Given the description of an element on the screen output the (x, y) to click on. 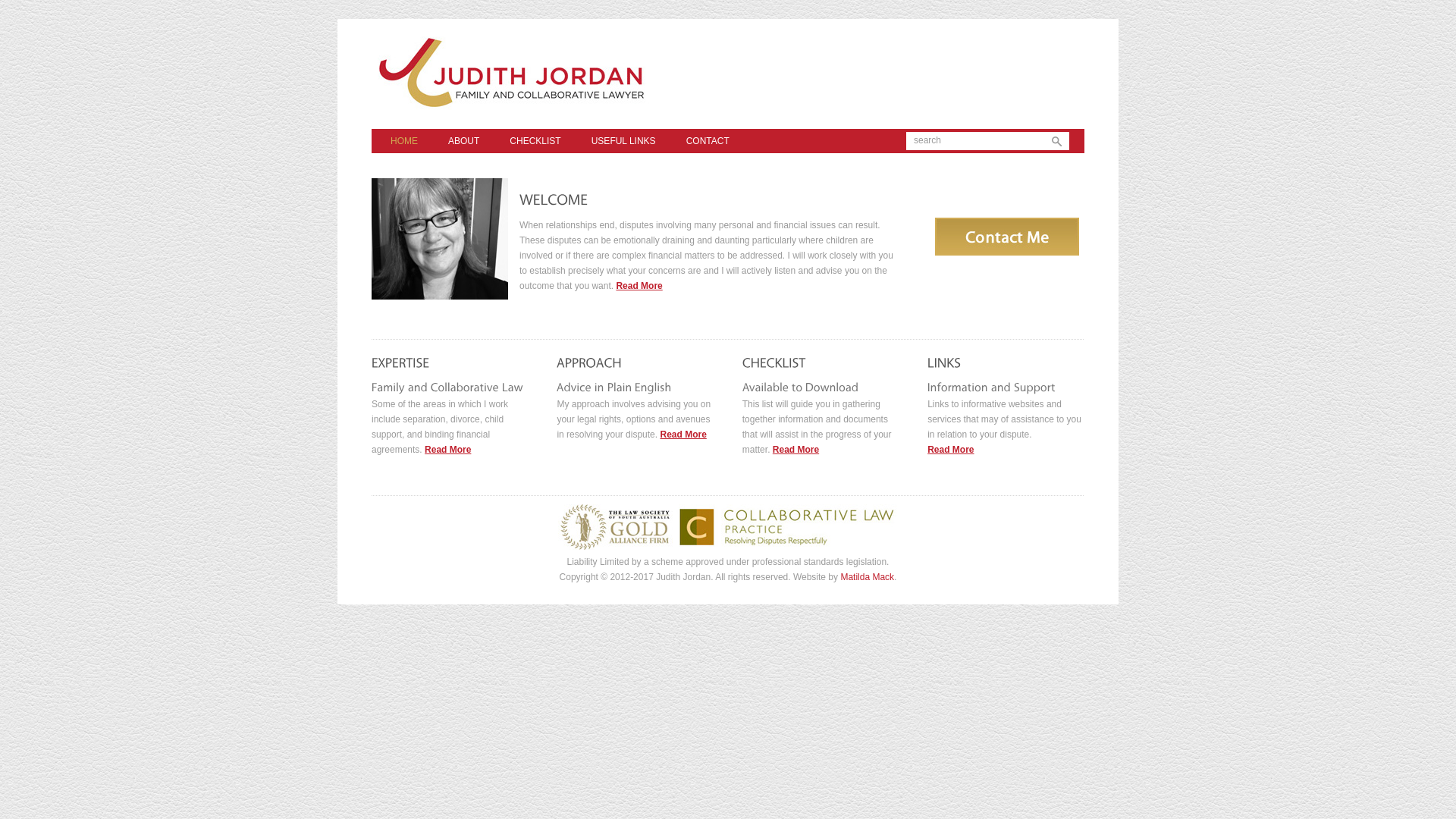
Read More Element type: text (795, 449)
Read More Element type: text (447, 449)
Read More Element type: text (950, 449)
ABOUT Element type: text (463, 140)
USEFUL LINKS Element type: text (623, 140)
HOME Element type: text (403, 140)
Judith Jordan Element type: hover (588, 121)
CHECKLIST Element type: text (534, 140)
Read More Element type: text (638, 285)
Read More Element type: text (682, 434)
Matilda Mack Element type: text (867, 576)
CONTACT Element type: text (707, 140)
